Given the description of an element on the screen output the (x, y) to click on. 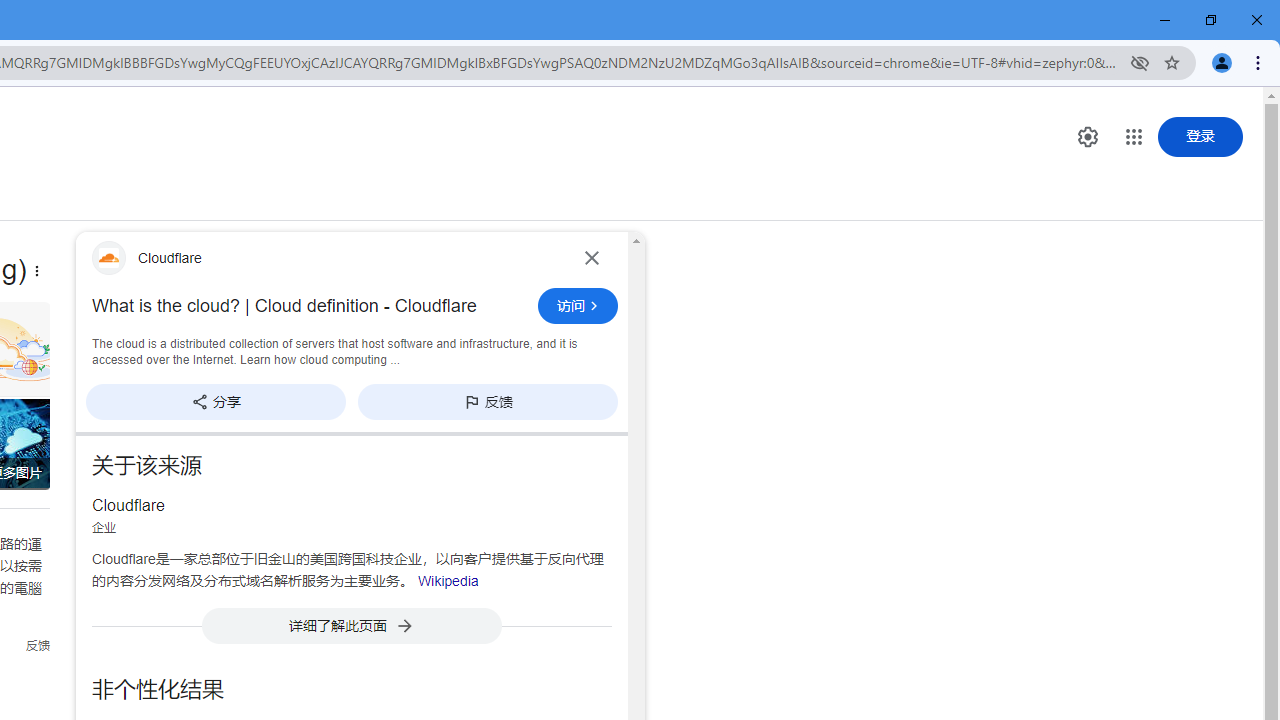
What is the cloud? | Cloud definition - Cloudflare (309, 305)
Wikipedia (447, 580)
